Given the description of an element on the screen output the (x, y) to click on. 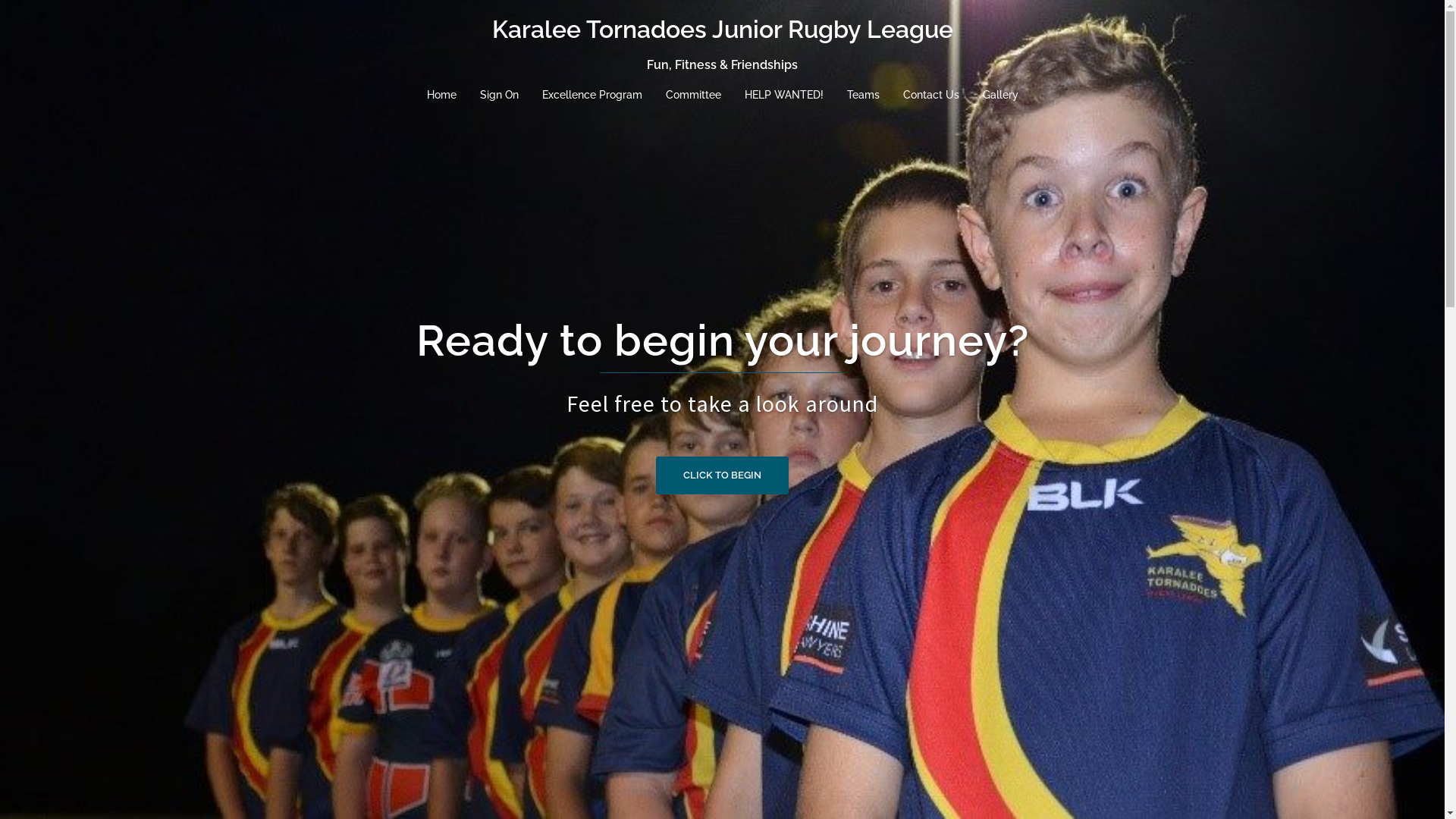
Gallery Element type: text (1000, 95)
CLICK TO BEGIN Element type: text (721, 475)
Sign On Element type: text (498, 95)
Teams Element type: text (862, 95)
Skip to content Element type: text (0, 0)
Karalee Tornadoes Junior Rugby League Element type: text (721, 29)
Contact Us Element type: text (930, 95)
HELP WANTED! Element type: text (783, 95)
Excellence Program Element type: text (591, 95)
Committee Element type: text (693, 95)
Home Element type: text (440, 95)
